Given the description of an element on the screen output the (x, y) to click on. 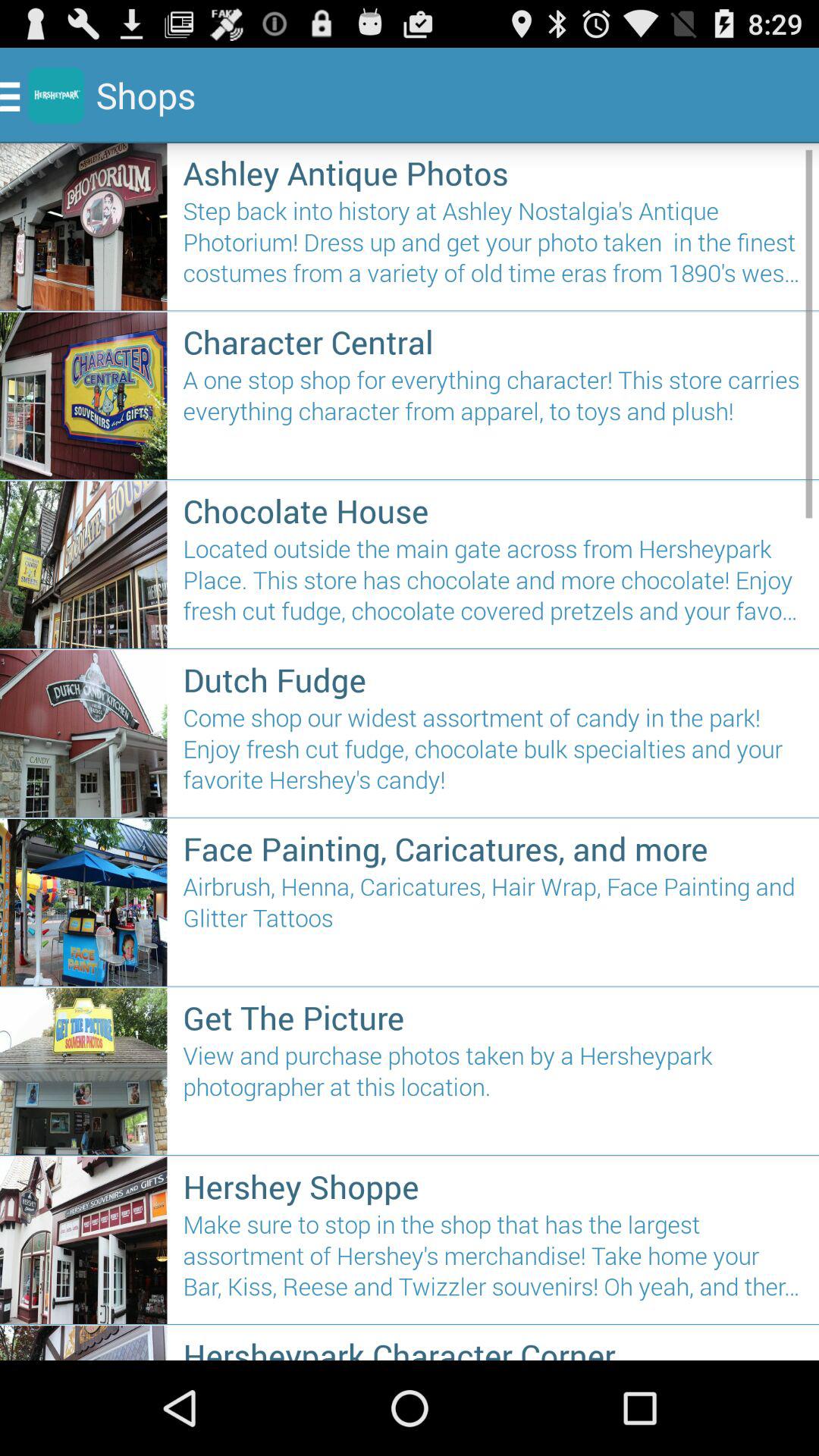
swipe to the airbrush henna caricatures icon (493, 924)
